Given the description of an element on the screen output the (x, y) to click on. 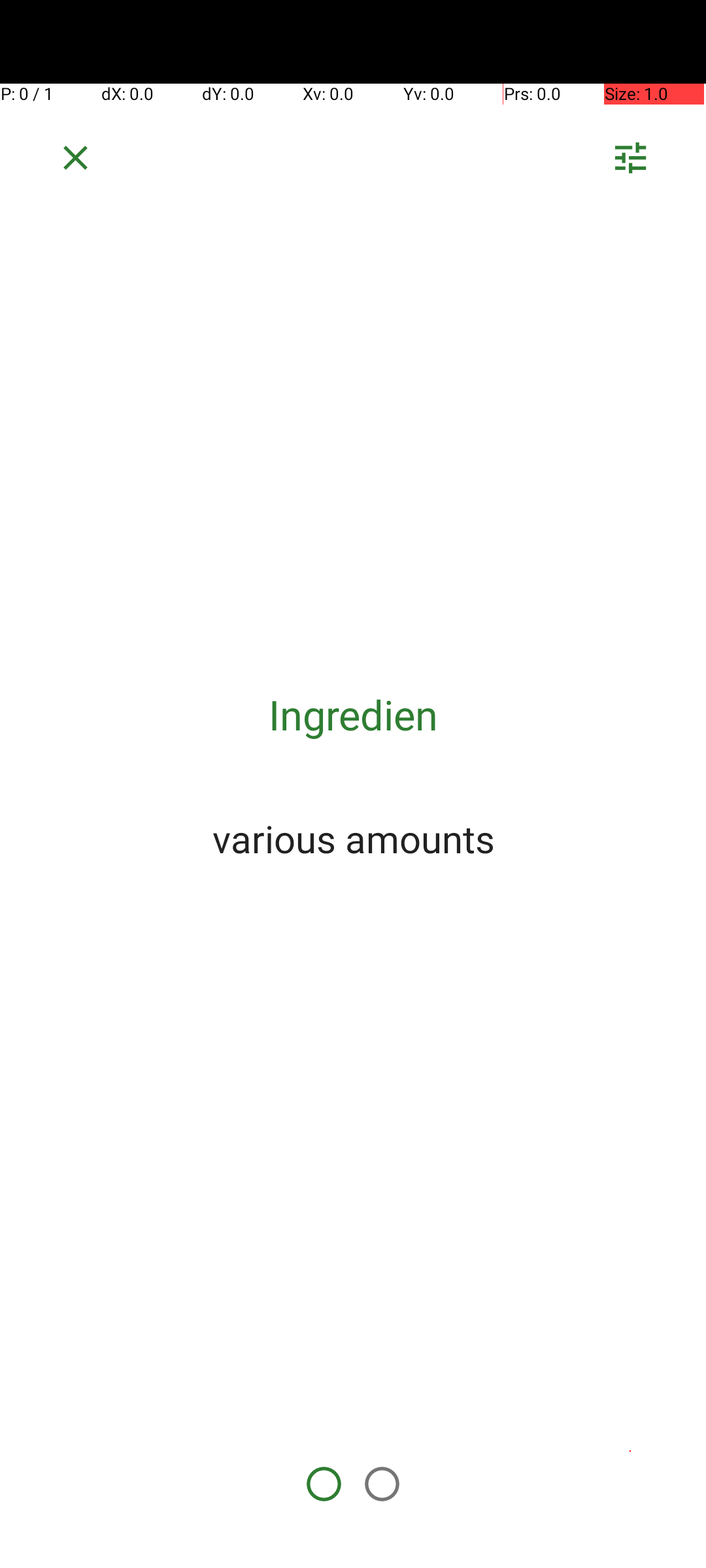
Adjust ingredients Element type: android.widget.Button (630, 161)
Ingredients Element type: android.widget.TextView (352, 714)
various amounts Element type: android.widget.TextView (352, 838)
